Given the description of an element on the screen output the (x, y) to click on. 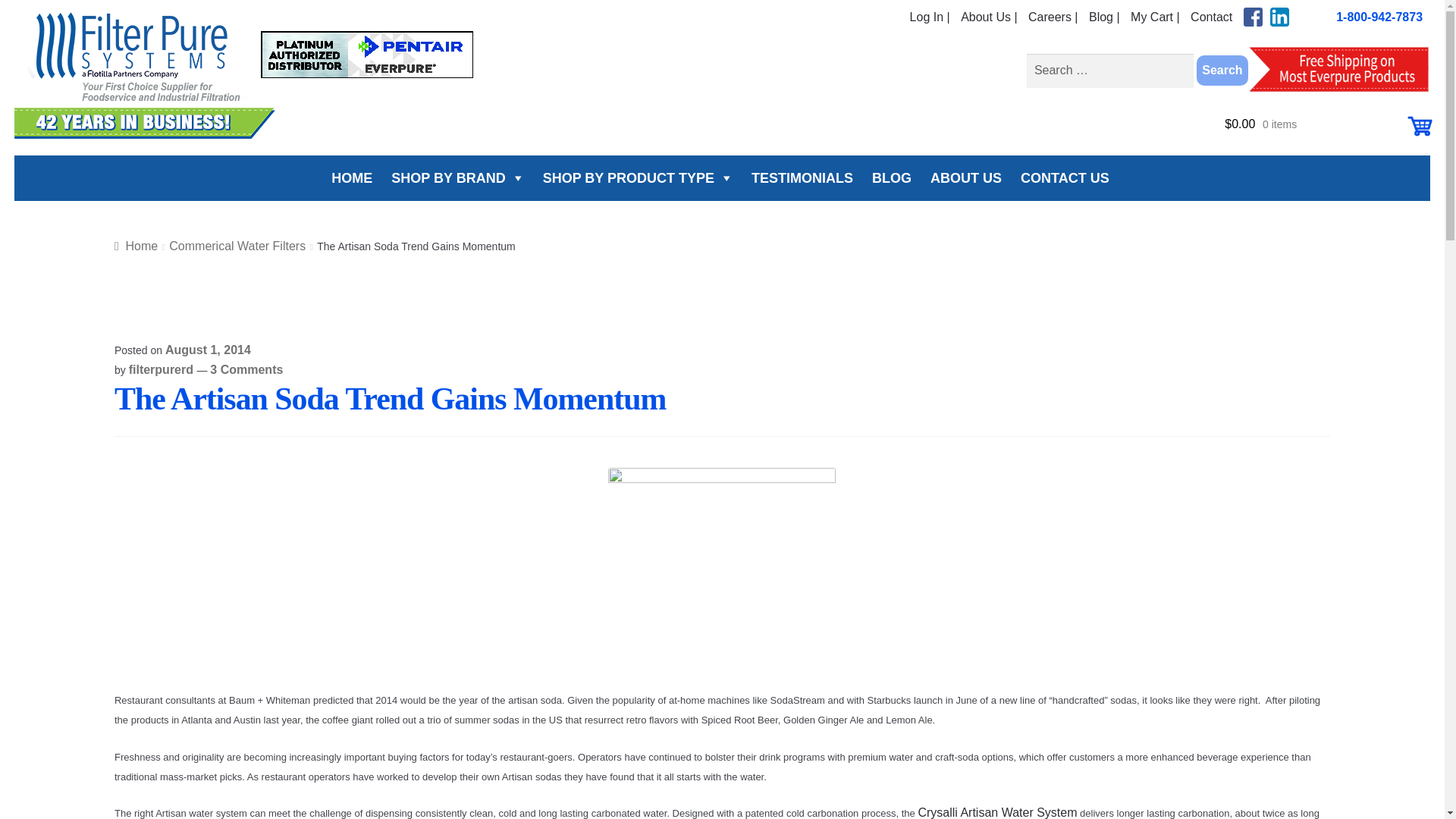
Filter Pure (253, 75)
My Cart (1155, 16)
Contact (1211, 16)
Search (1221, 70)
Artisan Soda (721, 578)
Careers (1052, 16)
About Us (988, 16)
Facebook (1252, 16)
Search (1221, 70)
Linkedin (1278, 16)
Careers (1104, 16)
Contact (1211, 16)
View your shopping cart (1326, 130)
My Account (930, 16)
